Given the description of an element on the screen output the (x, y) to click on. 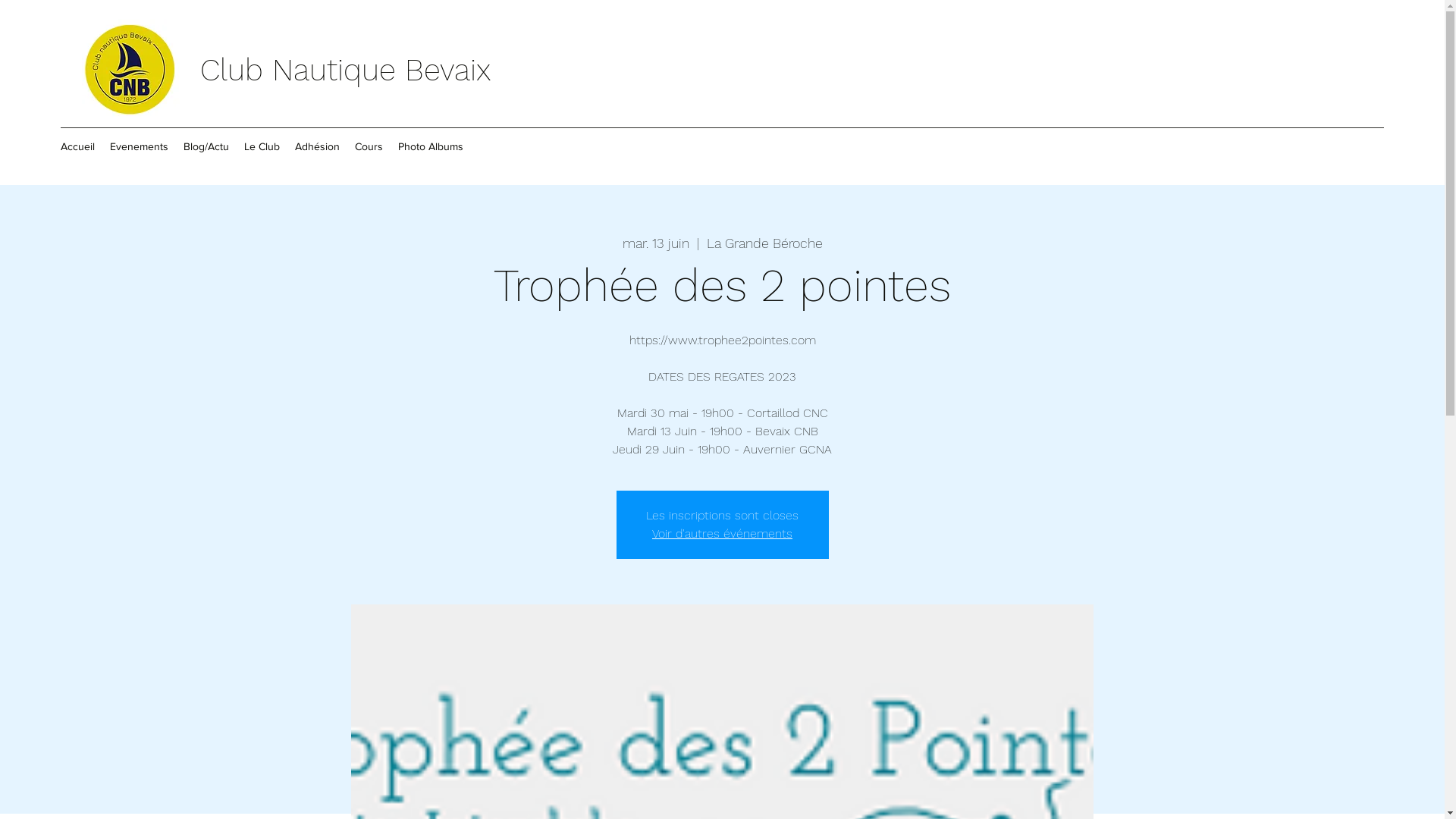
Evenements Element type: text (138, 145)
Photo Albums Element type: text (430, 145)
Blog/Actu Element type: text (205, 145)
Accueil Element type: text (77, 145)
Cours Element type: text (368, 145)
Le Club Element type: text (261, 145)
Club Nautique Bevaix Element type: text (345, 69)
